Given the description of an element on the screen output the (x, y) to click on. 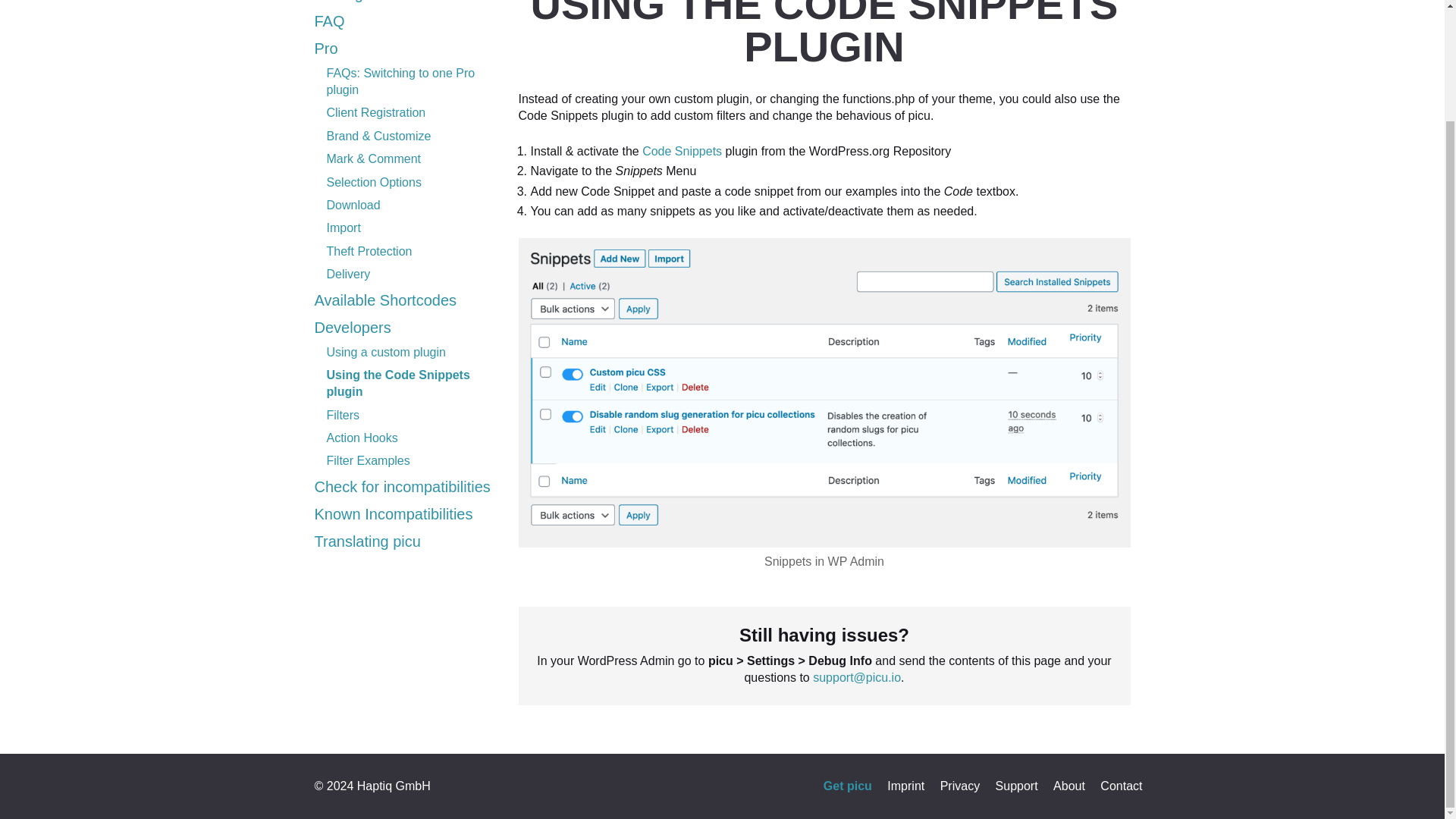
Available Shortcodes (385, 299)
Delivery (347, 273)
Support (1016, 785)
FAQs: Switching to one Pro plugin (400, 81)
Contact (1120, 785)
Action Hooks (361, 437)
Download (353, 205)
Imprint (905, 785)
Getting Started (365, 1)
Check for incompatibilities (401, 486)
Code Snippets (682, 151)
Using a custom plugin (385, 350)
Pro (325, 48)
Import (342, 227)
Selection Options (373, 182)
